Given the description of an element on the screen output the (x, y) to click on. 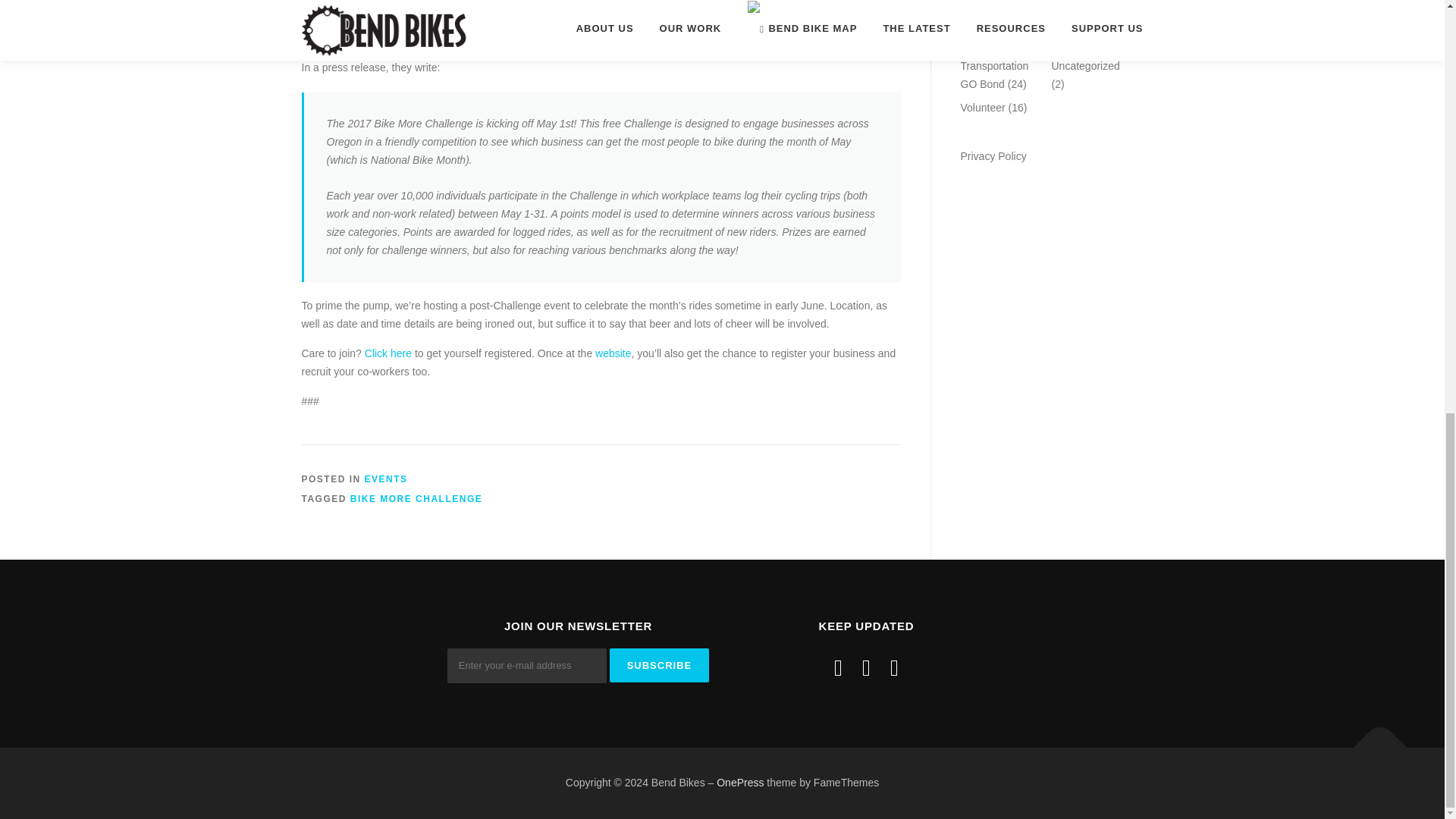
Back To Top (1372, 739)
EVENTS (386, 479)
BIKE MORE CHALLENGE (416, 498)
Click here (388, 353)
Subscribe (660, 665)
website (612, 353)
